Given the description of an element on the screen output the (x, y) to click on. 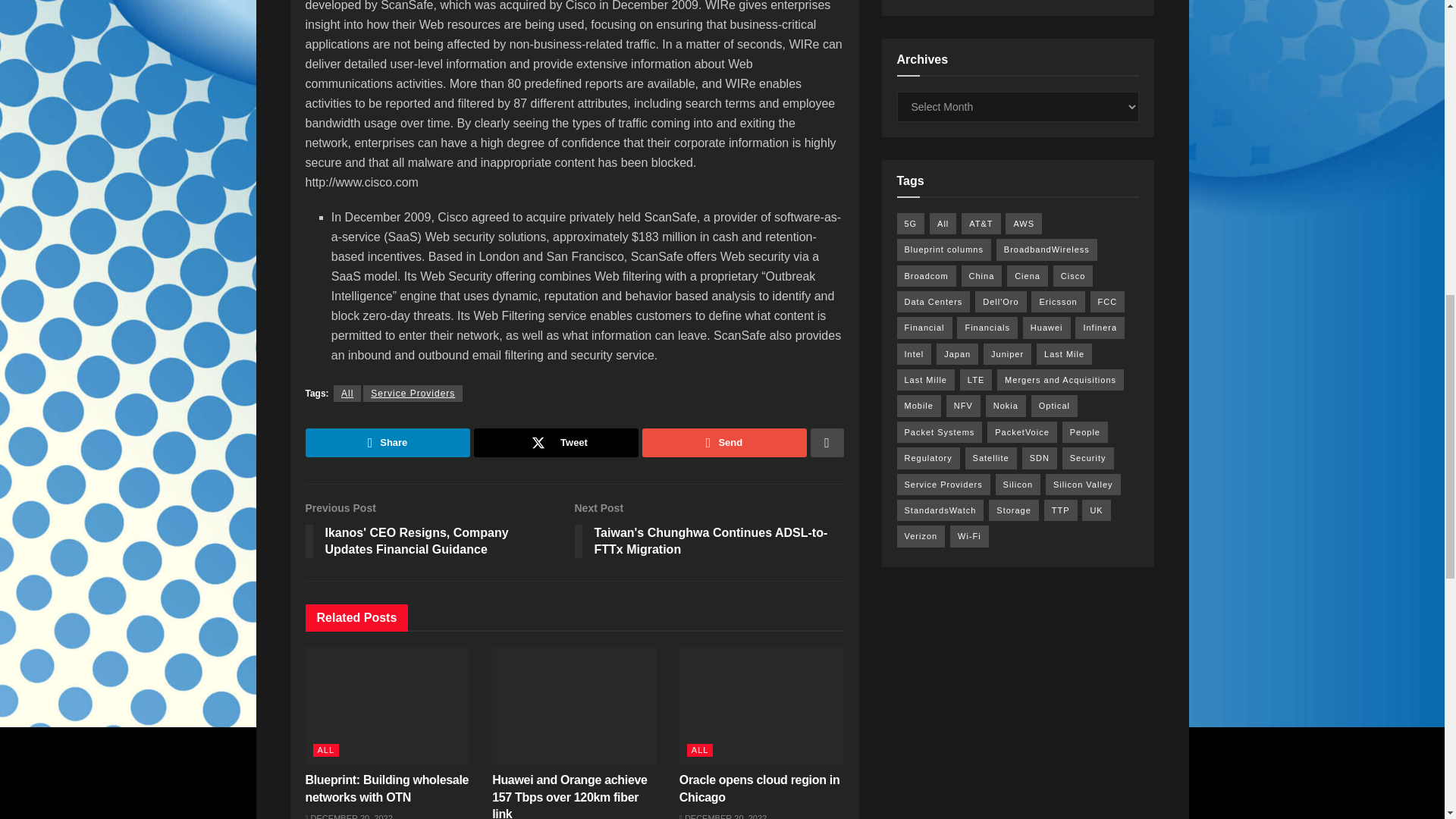
Tweet (555, 442)
Send (724, 442)
All (347, 393)
Service Providers (412, 393)
Share (709, 532)
